Given the description of an element on the screen output the (x, y) to click on. 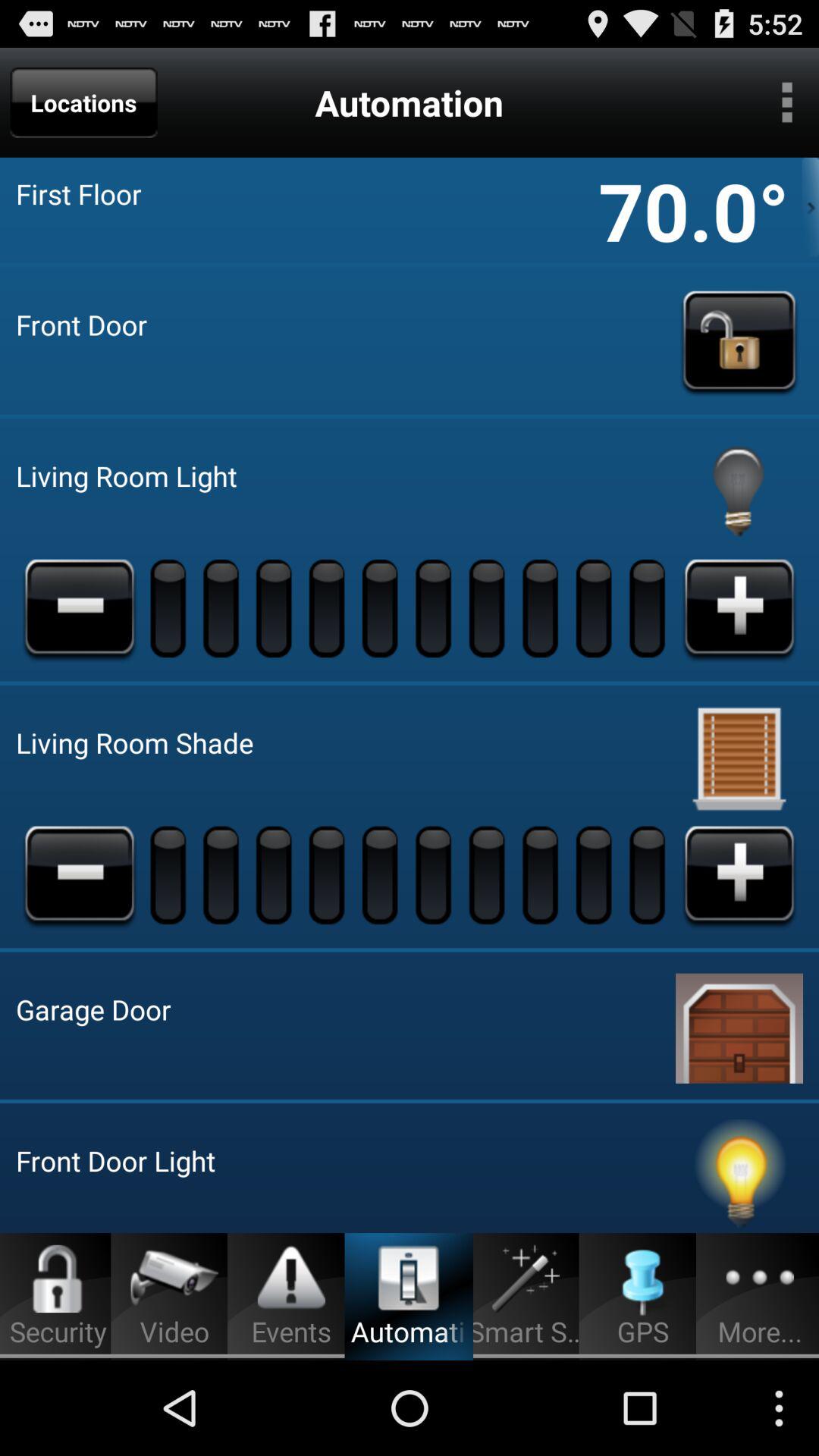
turn light on (739, 491)
